Given the description of an element on the screen output the (x, y) to click on. 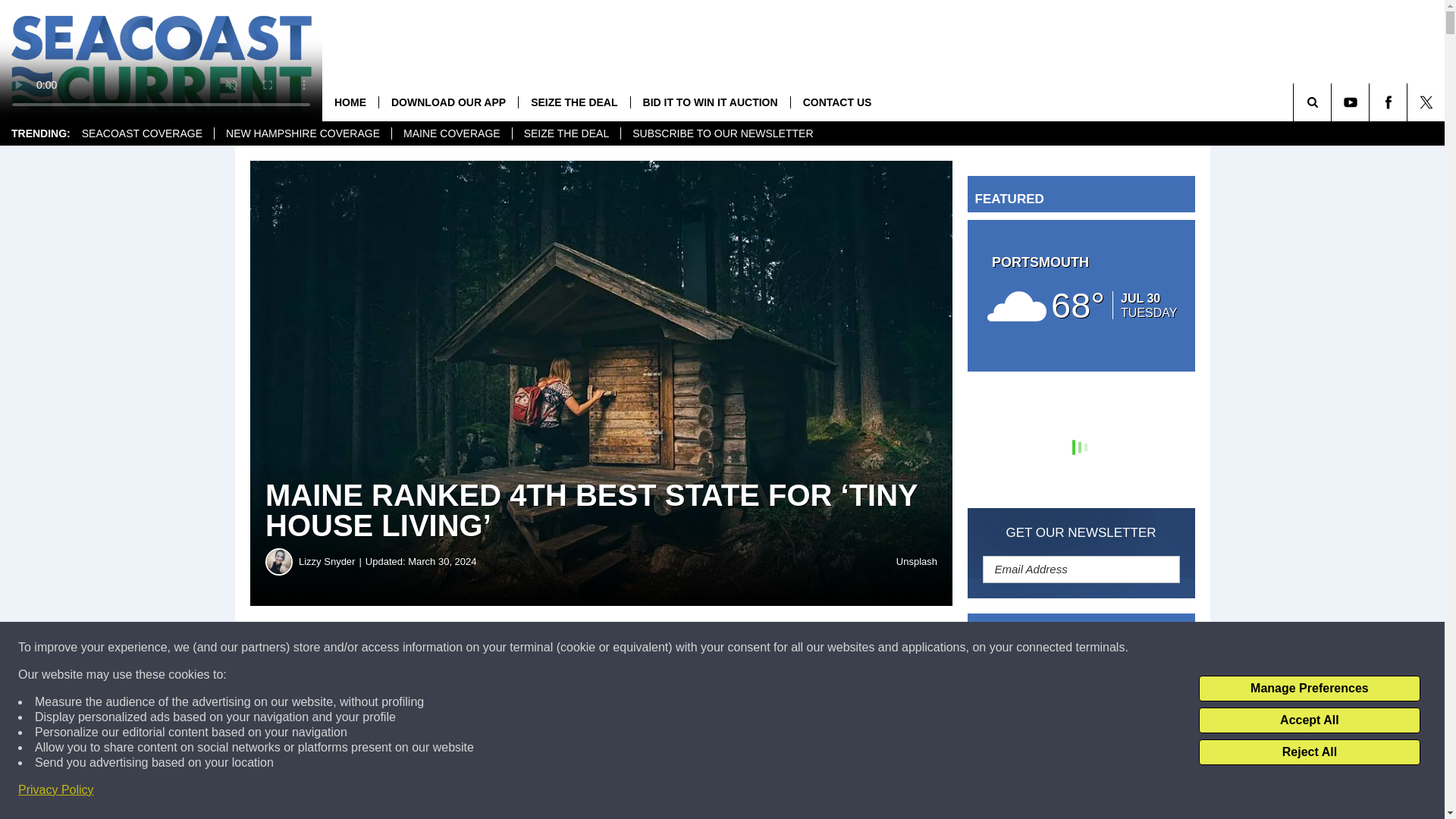
Manage Preferences (1309, 688)
BID IT TO WIN IT AUCTION (710, 102)
Reject All (1309, 751)
HOME (349, 102)
NEW HAMPSHIRE COVERAGE (302, 133)
SEARCH (1333, 102)
Email Address (1080, 568)
CONTACT US (836, 102)
SEIZE THE DEAL (573, 102)
SUBSCRIBE TO OUR NEWSLETTER (722, 133)
SEIZE THE DEAL (566, 133)
Privacy Policy (55, 789)
SEARCH (1333, 102)
Visit us on Youtube (1350, 102)
MAINE COVERAGE (451, 133)
